Given the description of an element on the screen output the (x, y) to click on. 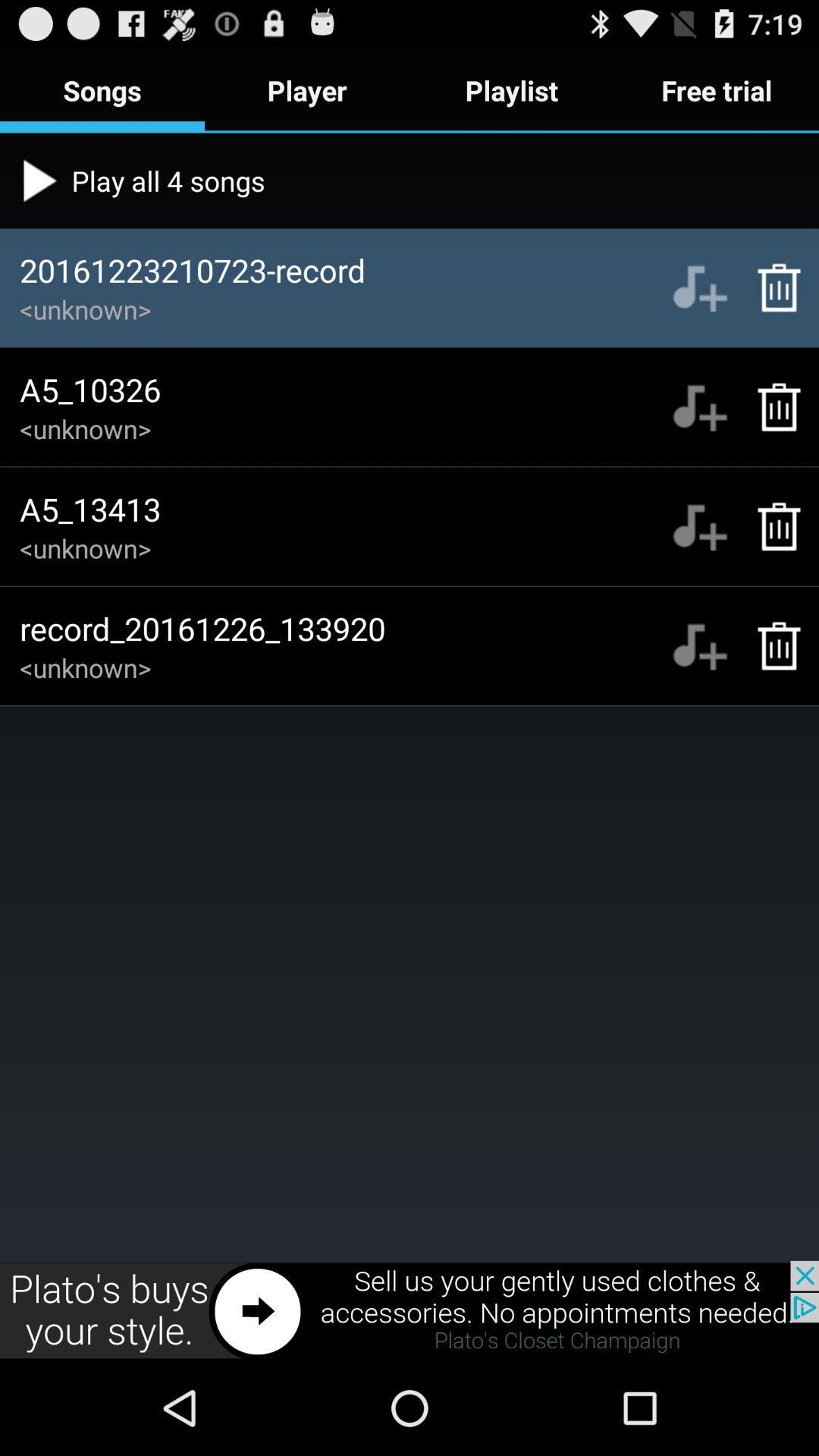
delete song (771, 526)
